Given the description of an element on the screen output the (x, y) to click on. 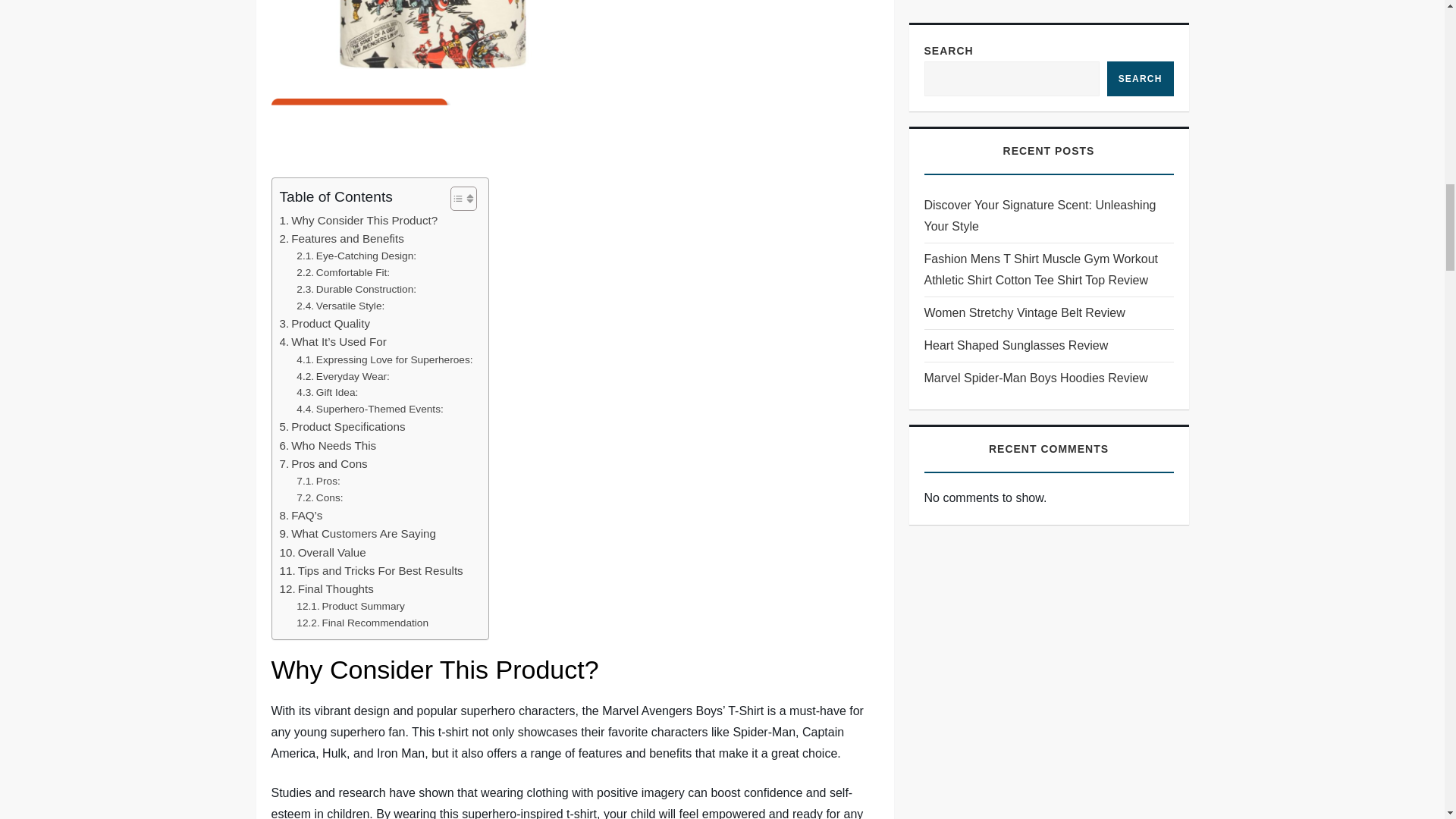
Pros: (318, 481)
Superhero-Themed Events: (370, 409)
Tips and Tricks For Best Results (371, 570)
Superhero-Themed Events: (370, 409)
Everyday Wear: (343, 376)
Versatile Style: (340, 306)
What Customers Are Saying (357, 533)
Pros and Cons (322, 464)
Overall Value (322, 552)
Eye-Catching Design: (356, 256)
Versatile Style: (340, 306)
Product Specifications (341, 426)
Eye-Catching Design: (356, 256)
Final Recommendation (362, 623)
Features and Benefits (341, 239)
